Given the description of an element on the screen output the (x, y) to click on. 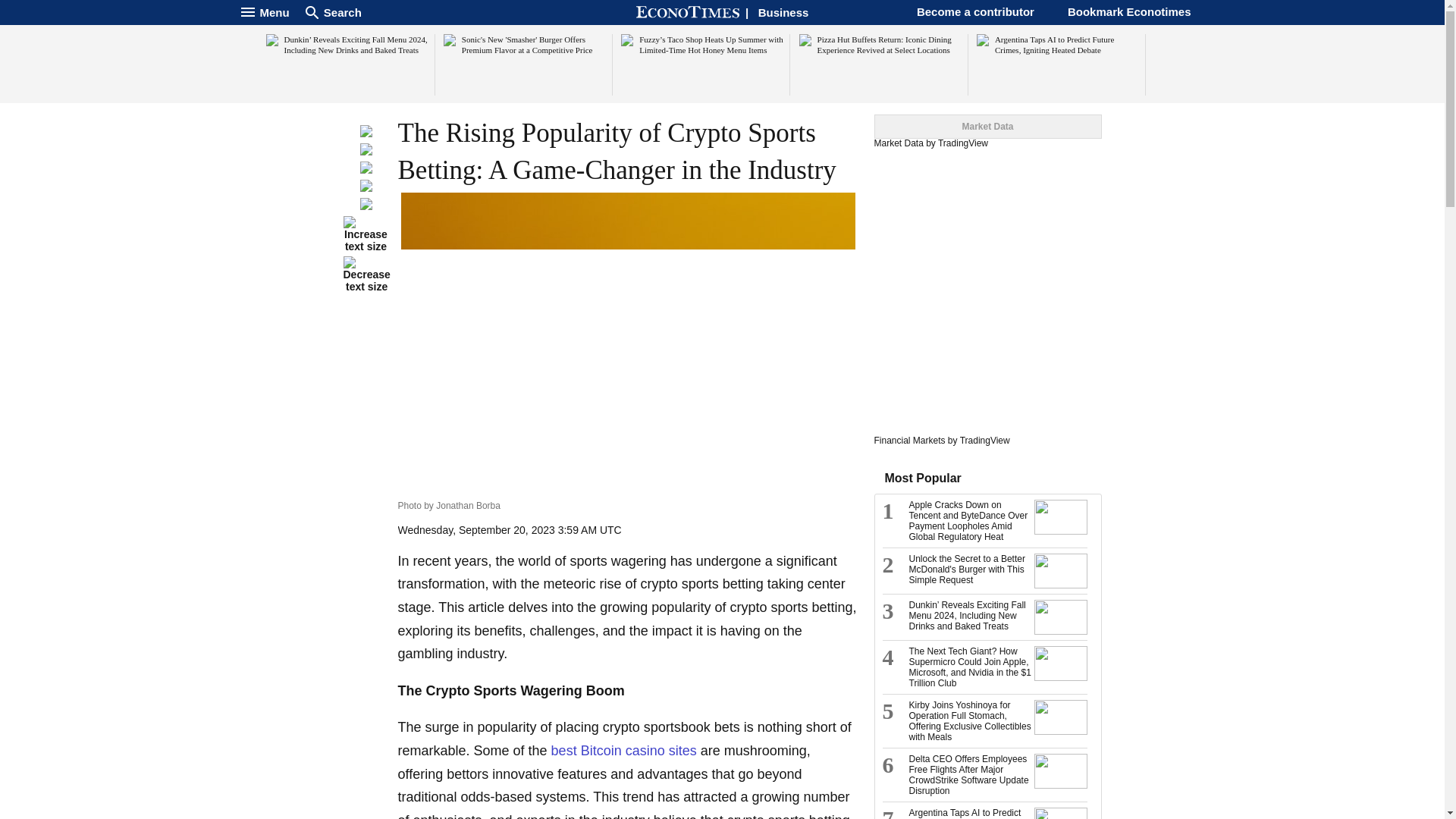
Share on Pinterest (365, 205)
Share this on Twitter (365, 151)
Share this on LinkedIn (365, 169)
Increase text size (365, 234)
Business (783, 11)
Decrease text size (366, 274)
Become a contributor (975, 11)
Share this on Facebook (365, 133)
Share on reddit (365, 187)
